Given the description of an element on the screen output the (x, y) to click on. 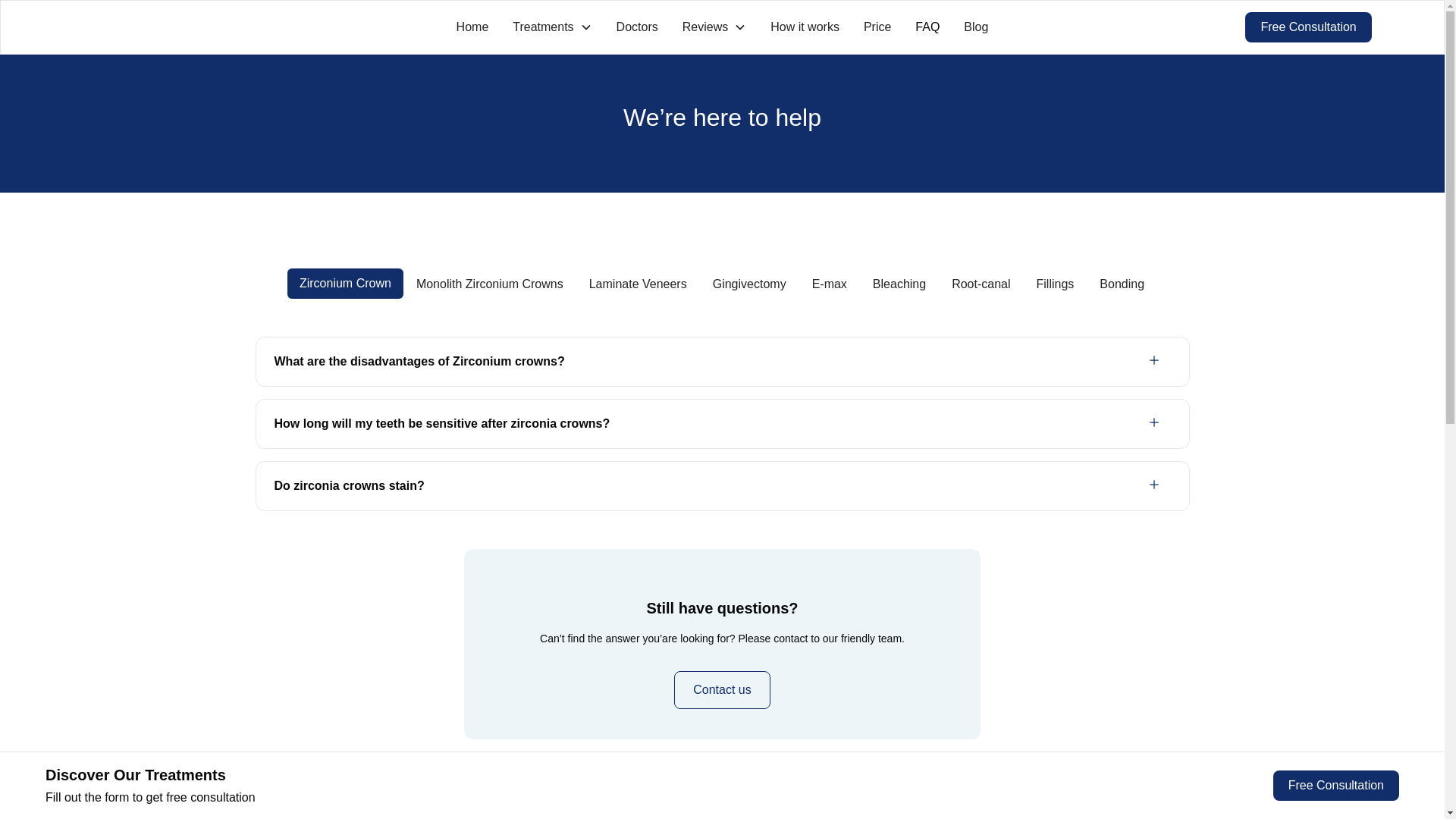
Price (876, 27)
Fillings (1055, 284)
E-max (829, 284)
How it works (804, 27)
Blog (976, 27)
Zirconium Crown (344, 283)
Gingivectomy (749, 284)
Root-canal (981, 284)
FAQ (927, 27)
